Given the description of an element on the screen output the (x, y) to click on. 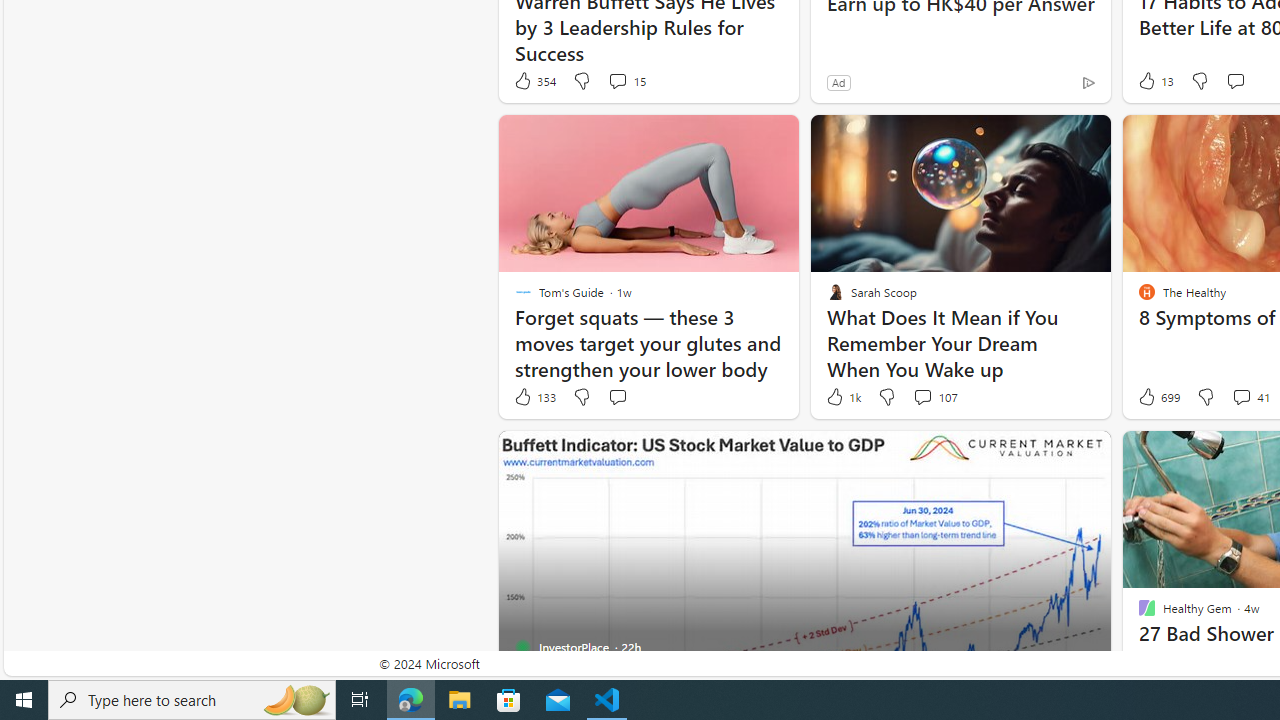
133 Like (534, 397)
View comments 15 Comment (626, 80)
View comments 41 Comment (1241, 396)
